Given the description of an element on the screen output the (x, y) to click on. 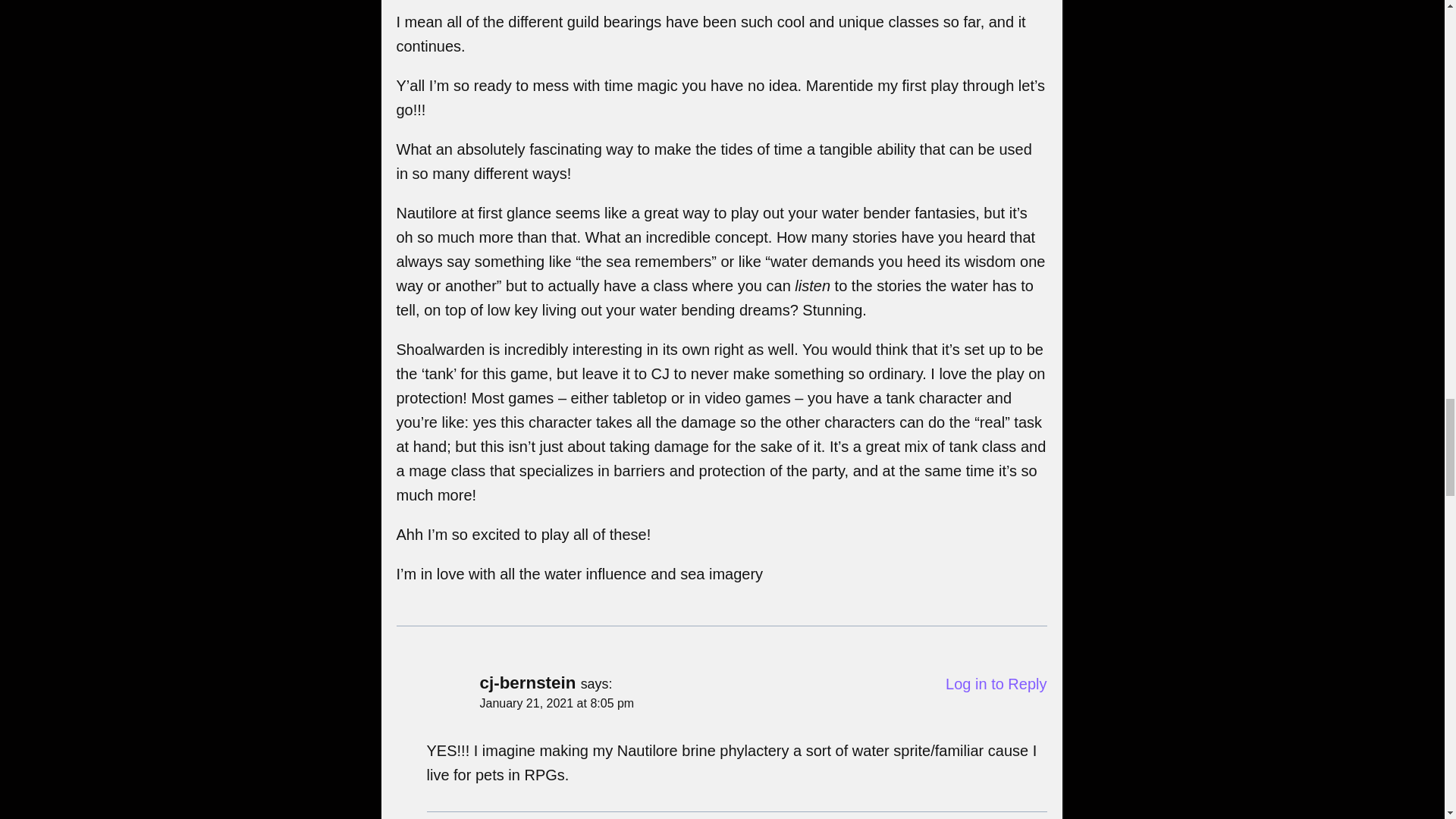
:cjheart: (403, 593)
